Given the description of an element on the screen output the (x, y) to click on. 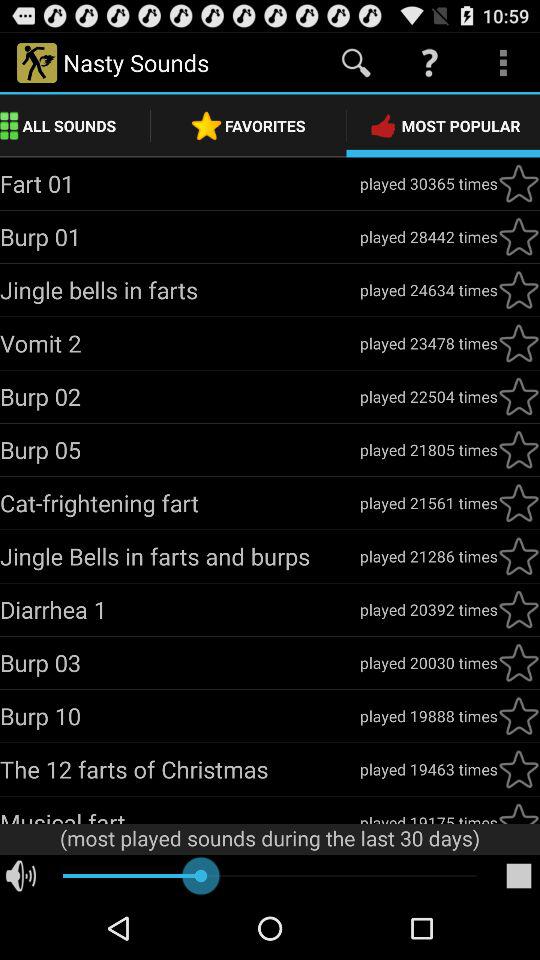
launch icon below the jingle bells in app (180, 609)
